Given the description of an element on the screen output the (x, y) to click on. 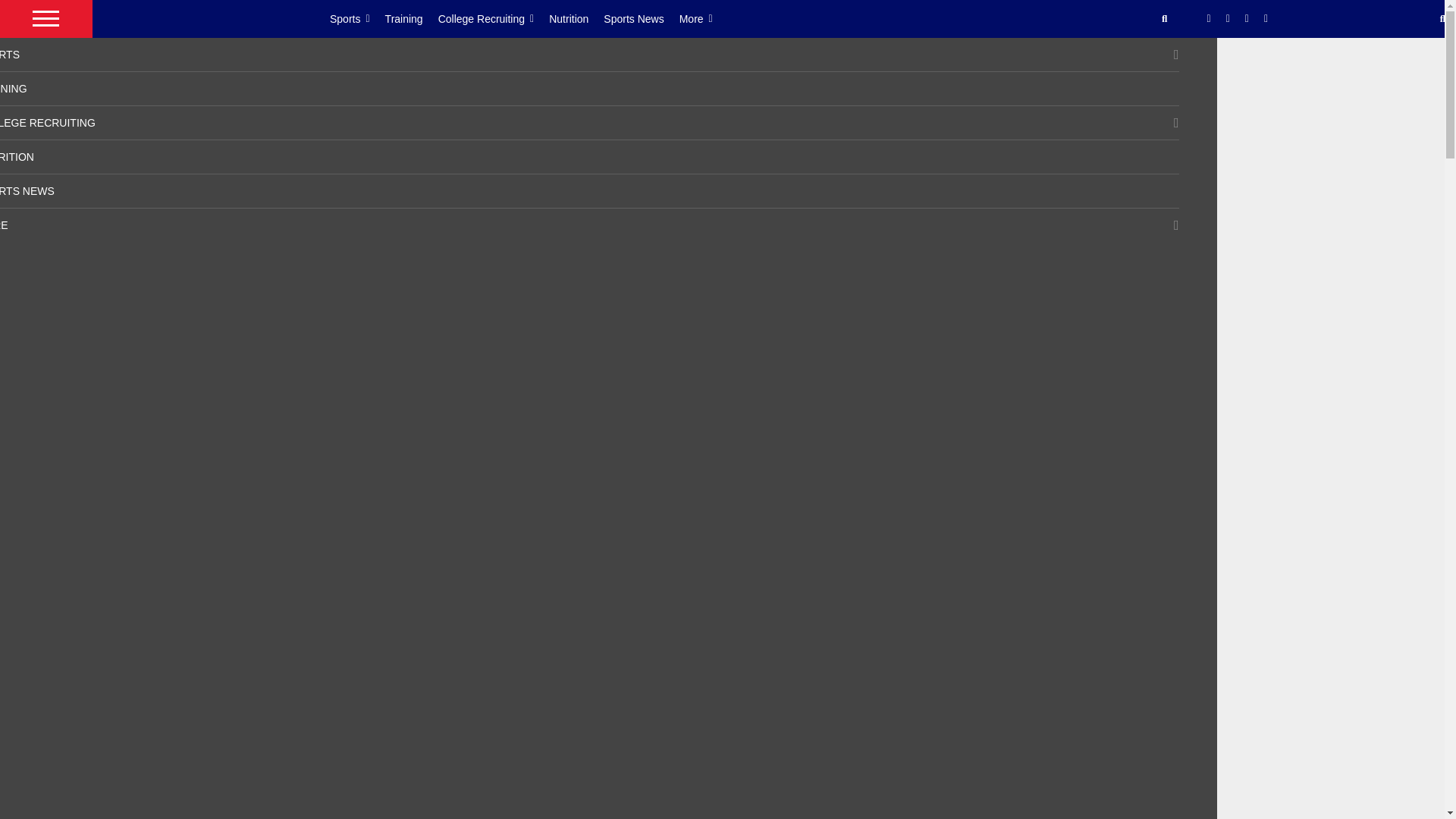
Training (411, 18)
Sports (357, 18)
Nutrition (576, 18)
College Recruiting (494, 18)
More (703, 18)
SPORTS (10, 54)
Sports News (641, 18)
